Given the description of an element on the screen output the (x, y) to click on. 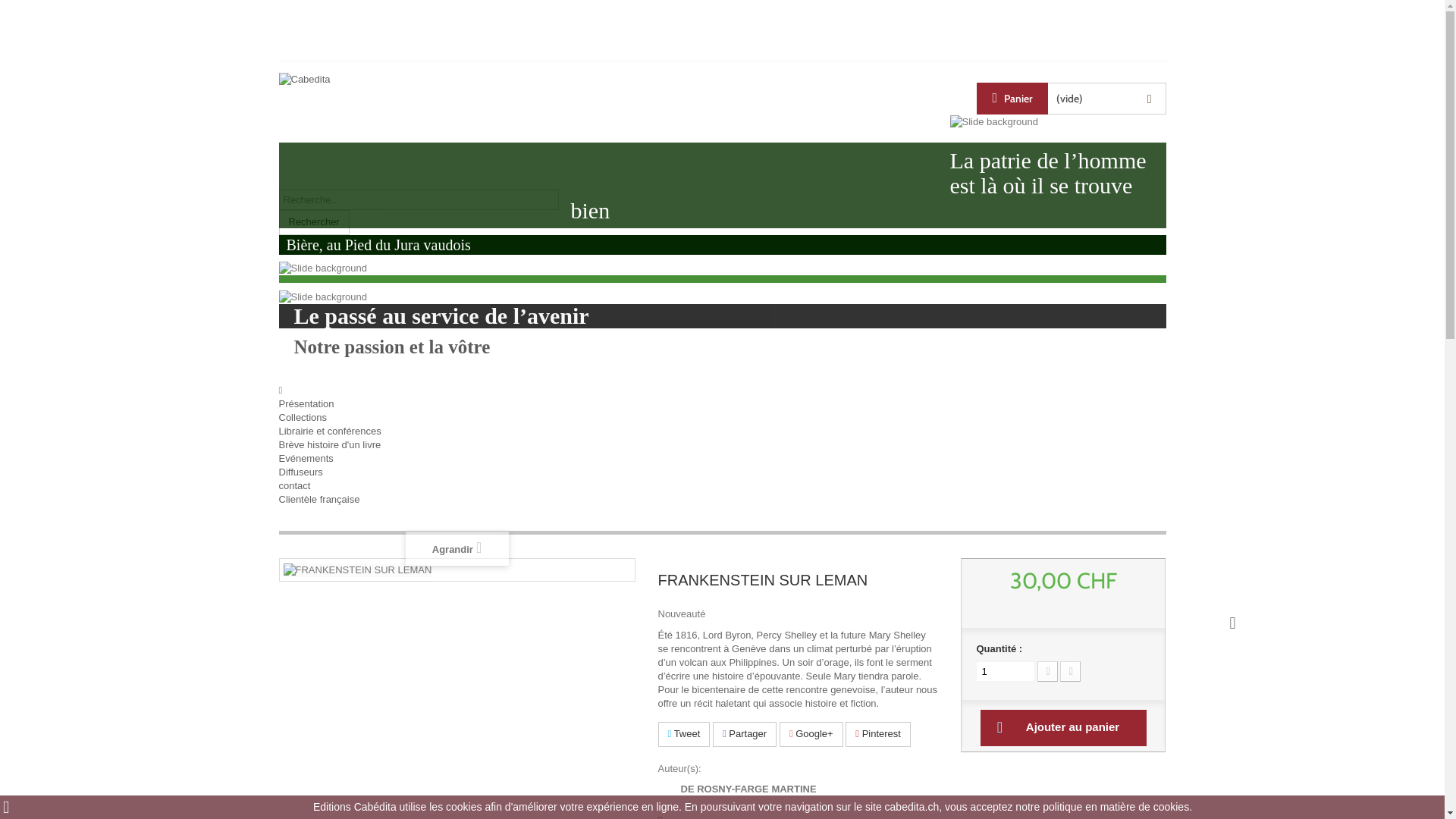
Tweet Element type: text (684, 733)
Partager Element type: text (744, 733)
Collections Element type: text (303, 417)
Pinterest Element type: text (877, 733)
accueil Element type: hover (280, 389)
FRANKENSTEIN SUR LEMAN Element type: hover (357, 570)
contact Element type: text (294, 485)
Rechercher Element type: text (314, 222)
Panier (vide) Element type: text (1071, 98)
Google+ Element type: text (811, 733)
Cabedita Element type: hover (415, 130)
Diffuseurs Element type: text (301, 471)
DE ROSNY-FARGE MARTINE Element type: text (737, 789)
Ajouter au panier Element type: text (1063, 727)
